Given the description of an element on the screen output the (x, y) to click on. 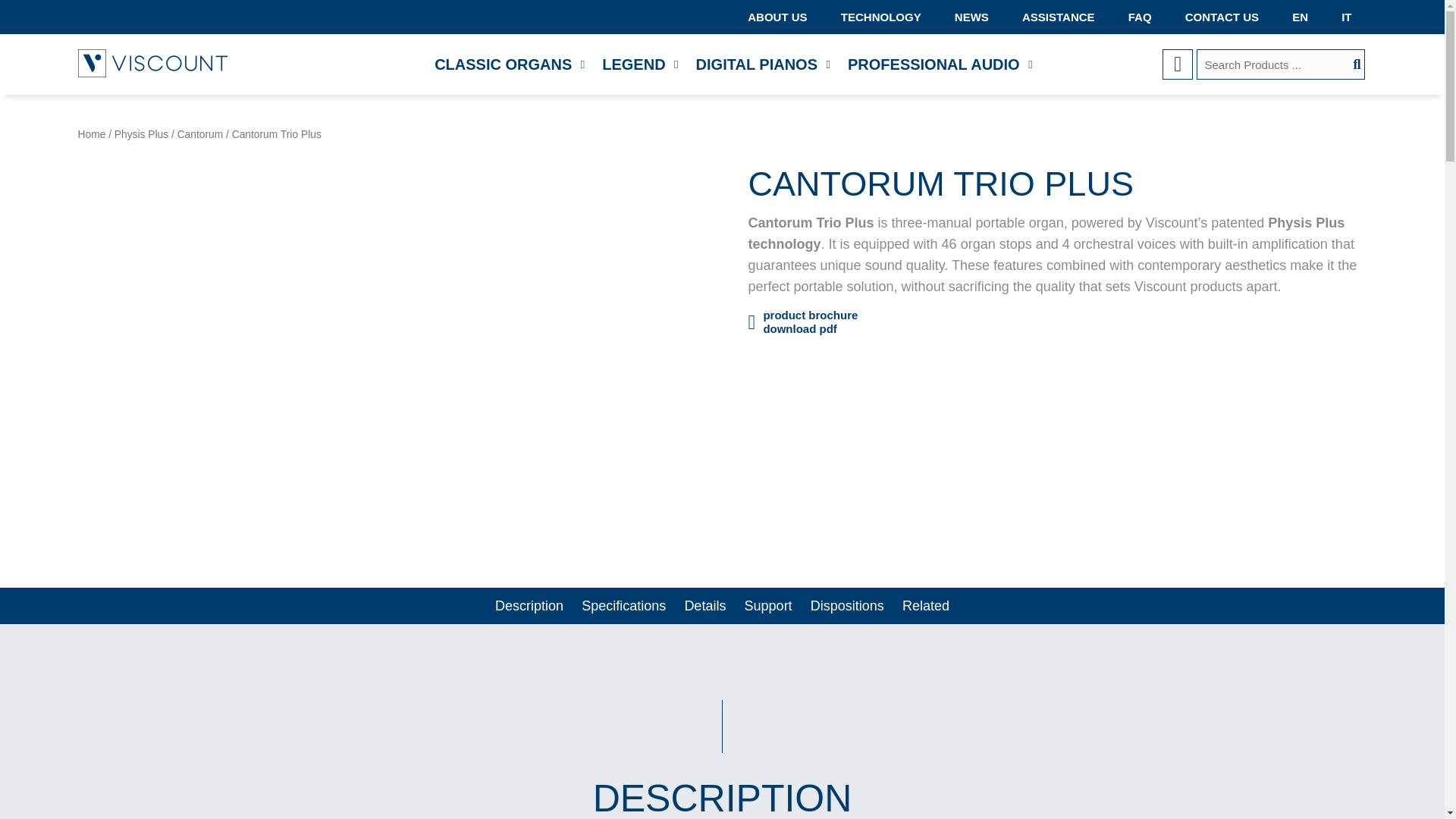
DIGITAL PIANOS (756, 64)
CLASSIC ORGANS (502, 64)
EN (1299, 17)
ABOUT US (785, 17)
IT (1346, 17)
LEGEND (632, 64)
TECHNOLOGY (880, 17)
PROFESSIONAL AUDIO (933, 64)
CONTACT US (1222, 17)
ASSISTANCE (1058, 17)
